Given the description of an element on the screen output the (x, y) to click on. 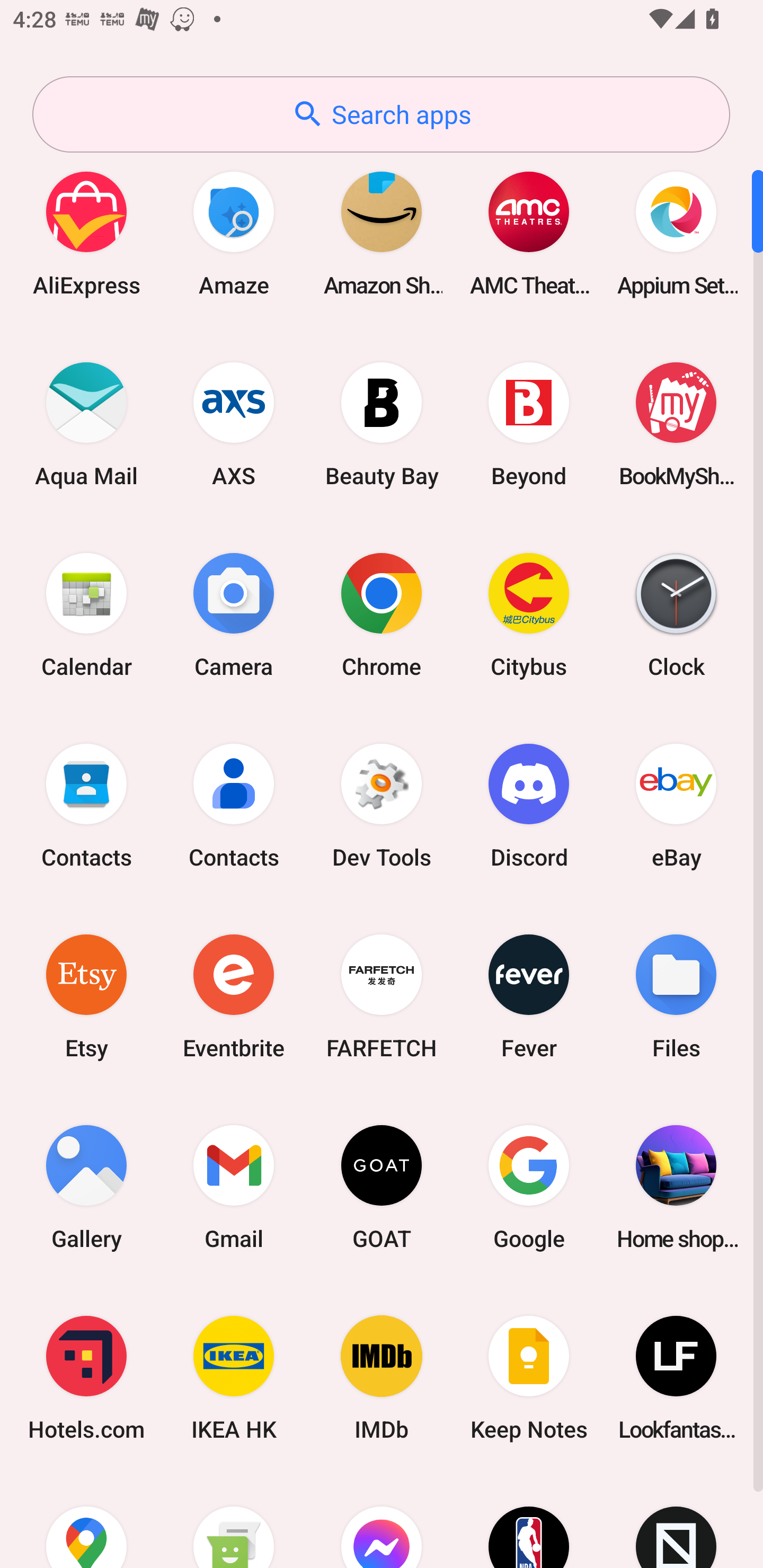
  Search apps (381, 114)
AliExpress (86, 233)
Amaze (233, 233)
Amazon Shopping (381, 233)
AMC Theatres (528, 233)
Appium Settings (676, 233)
Aqua Mail (86, 424)
AXS (233, 424)
Beauty Bay (381, 424)
Beyond (528, 424)
BookMyShow (676, 424)
Calendar (86, 614)
Camera (233, 614)
Chrome (381, 614)
Citybus (528, 614)
Clock (676, 614)
Contacts (86, 805)
Contacts (233, 805)
Dev Tools (381, 805)
Discord (528, 805)
eBay (676, 805)
Etsy (86, 996)
Eventbrite (233, 996)
FARFETCH (381, 996)
Fever (528, 996)
Files (676, 996)
Gallery (86, 1186)
Gmail (233, 1186)
GOAT (381, 1186)
Google (528, 1186)
Home shopping (676, 1186)
Hotels.com (86, 1377)
IKEA HK (233, 1377)
IMDb (381, 1377)
Keep Notes (528, 1377)
Lookfantastic (676, 1377)
Maps (86, 1520)
Messaging (233, 1520)
Messenger (381, 1520)
NBA (528, 1520)
Novelship (676, 1520)
